Given the description of an element on the screen output the (x, y) to click on. 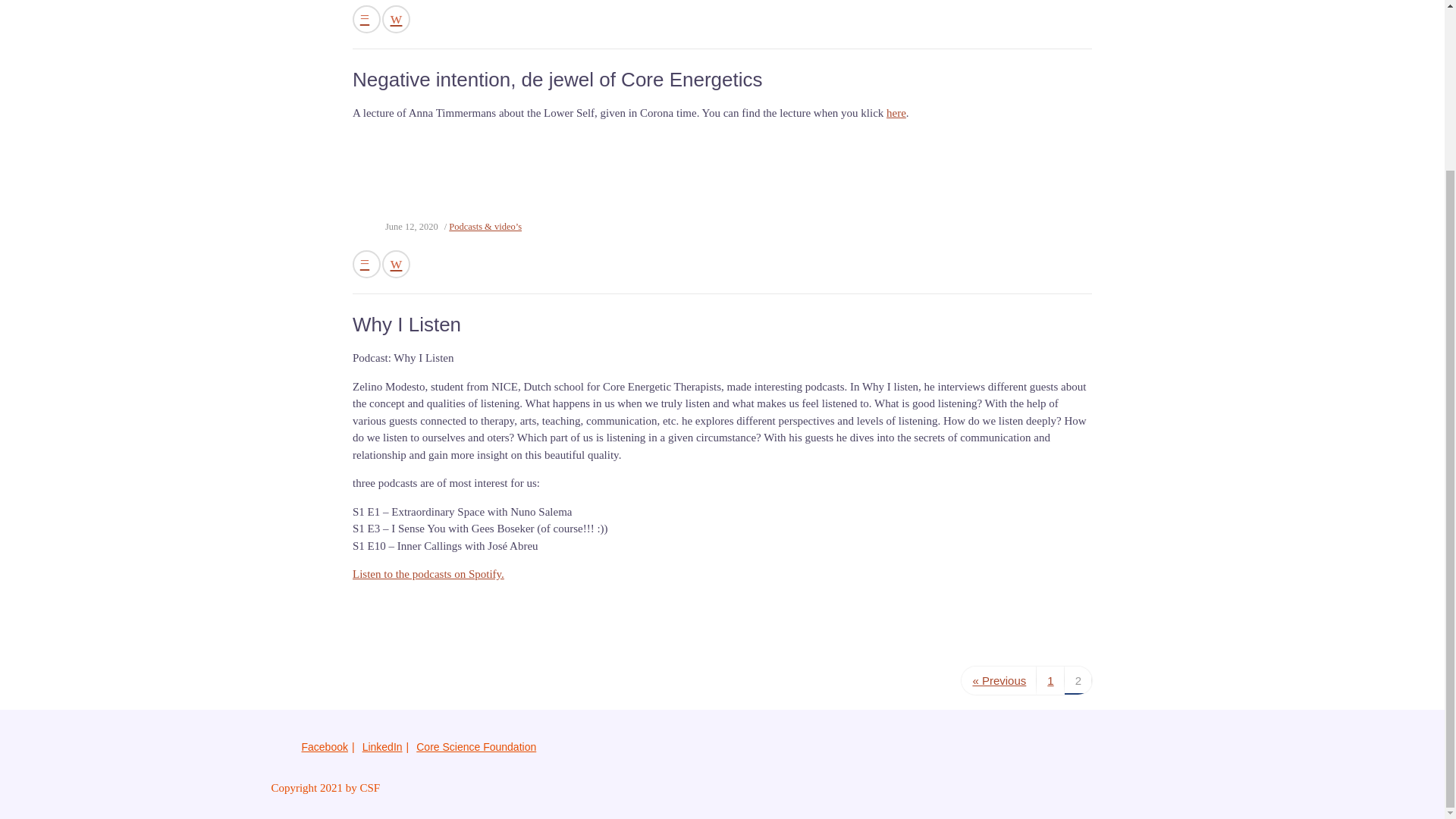
LinkedIn (382, 746)
1 (1050, 680)
Listen to the podcasts on Spotify. (427, 573)
Facebook (324, 746)
Core Science Foundation (475, 746)
here (895, 112)
